Given the description of an element on the screen output the (x, y) to click on. 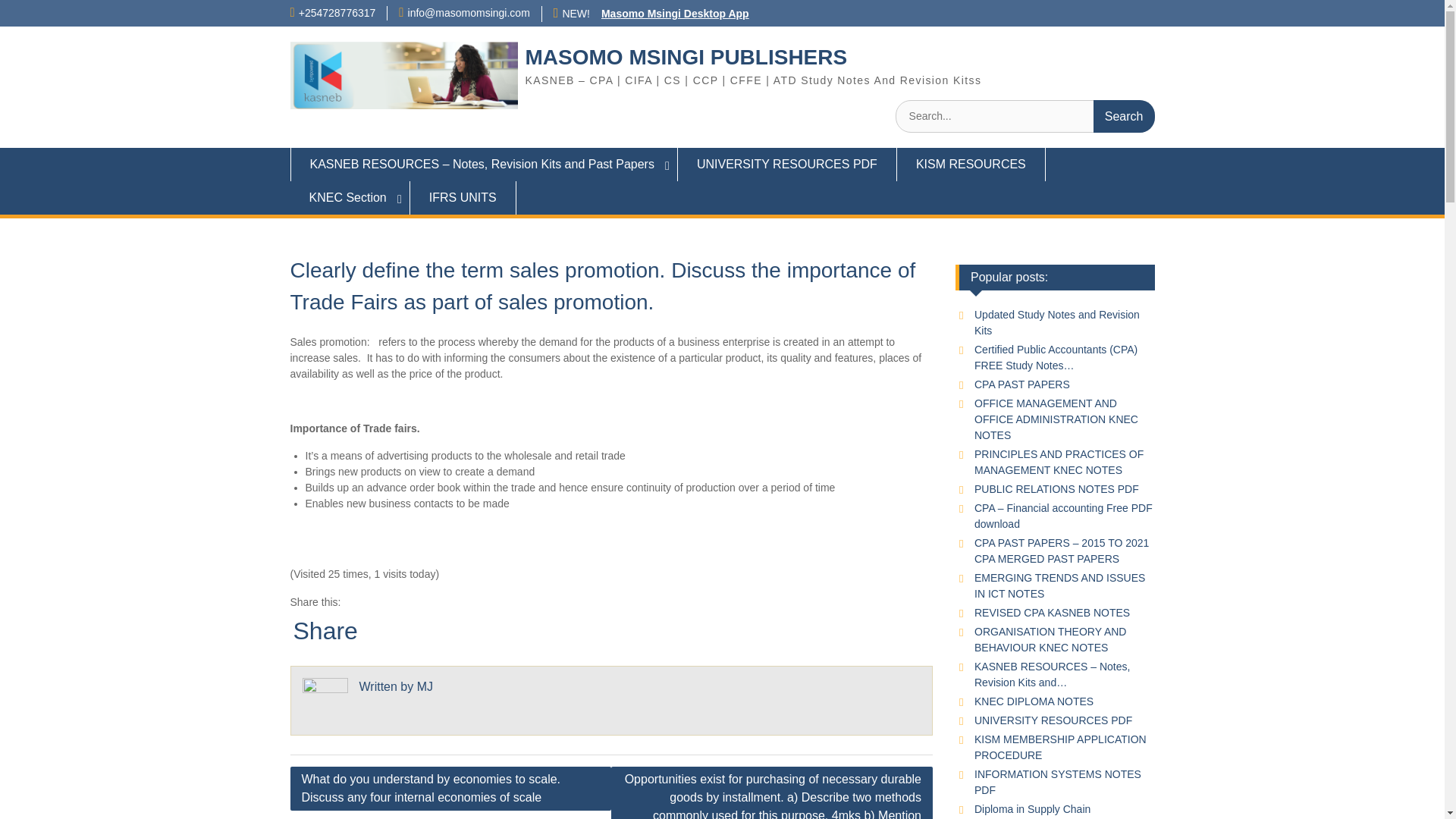
MJ (424, 686)
CPA PAST PAPERS (1022, 384)
IFRS UNITS (463, 197)
Search (1123, 115)
Search (1123, 115)
Search (1123, 115)
KNEC Section (349, 197)
Updated Study Notes and Revision Kits (1057, 322)
Search for: (1024, 115)
UNIVERSITY RESOURCES PDF (787, 164)
PRINCIPLES AND PRACTICES OF MANAGEMENT KNEC NOTES (1058, 461)
Masomo Msingi Desktop App (675, 13)
Share (324, 630)
MASOMO MSINGI PUBLISHERS (685, 56)
KISM RESOURCES (970, 164)
